Given the description of an element on the screen output the (x, y) to click on. 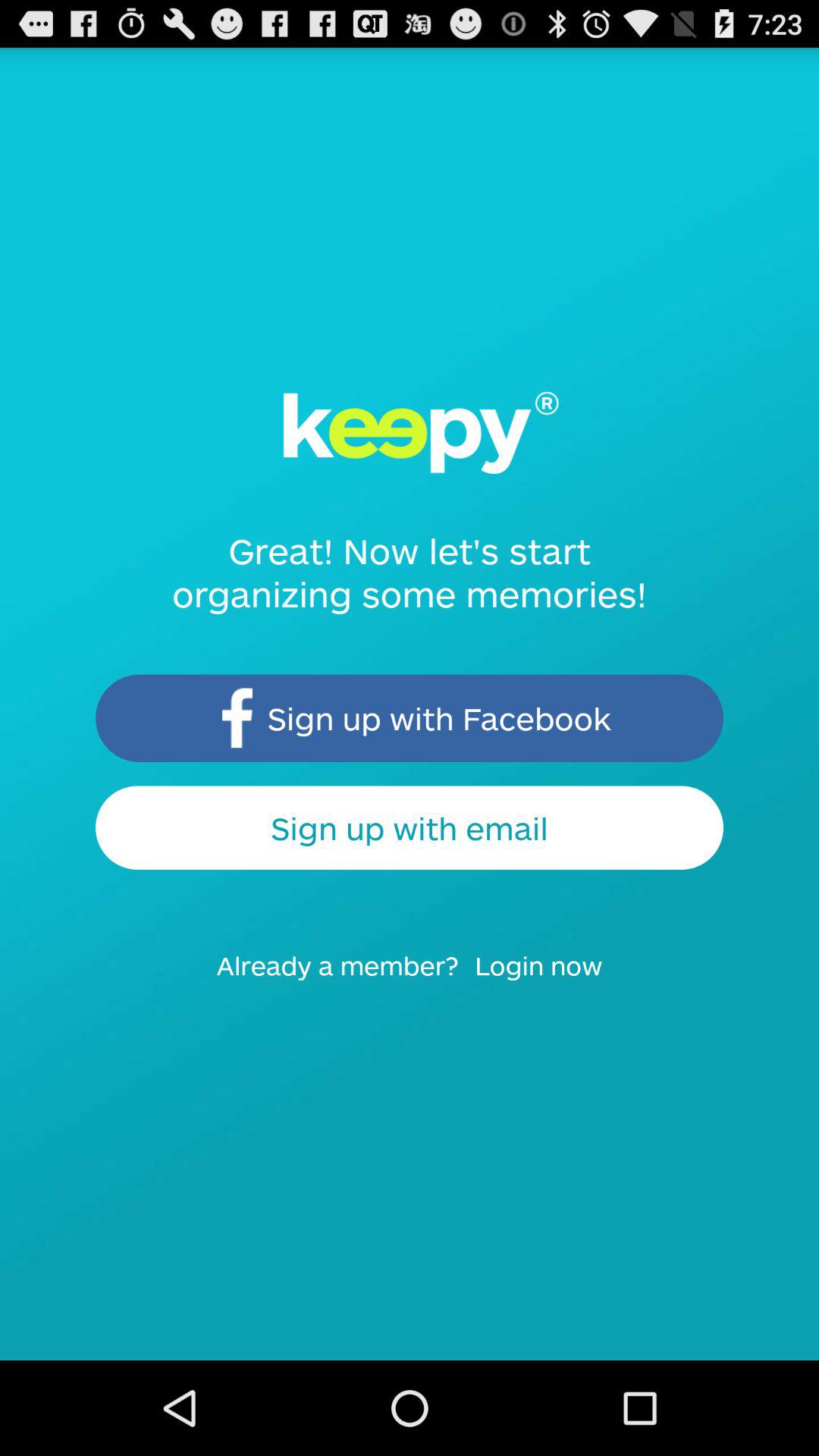
click login now (548, 980)
